Given the description of an element on the screen output the (x, y) to click on. 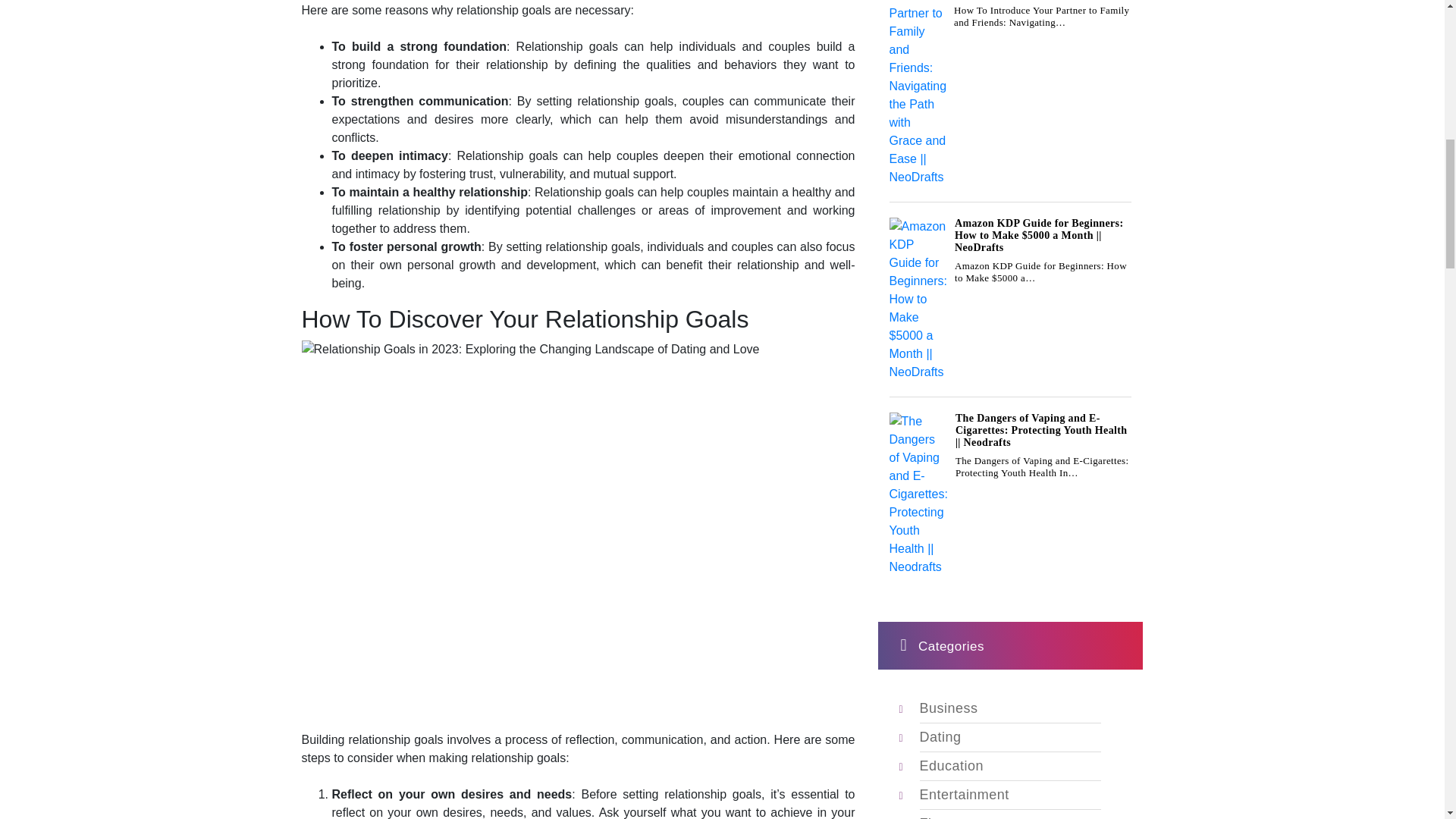
Business (947, 708)
